Given the description of an element on the screen output the (x, y) to click on. 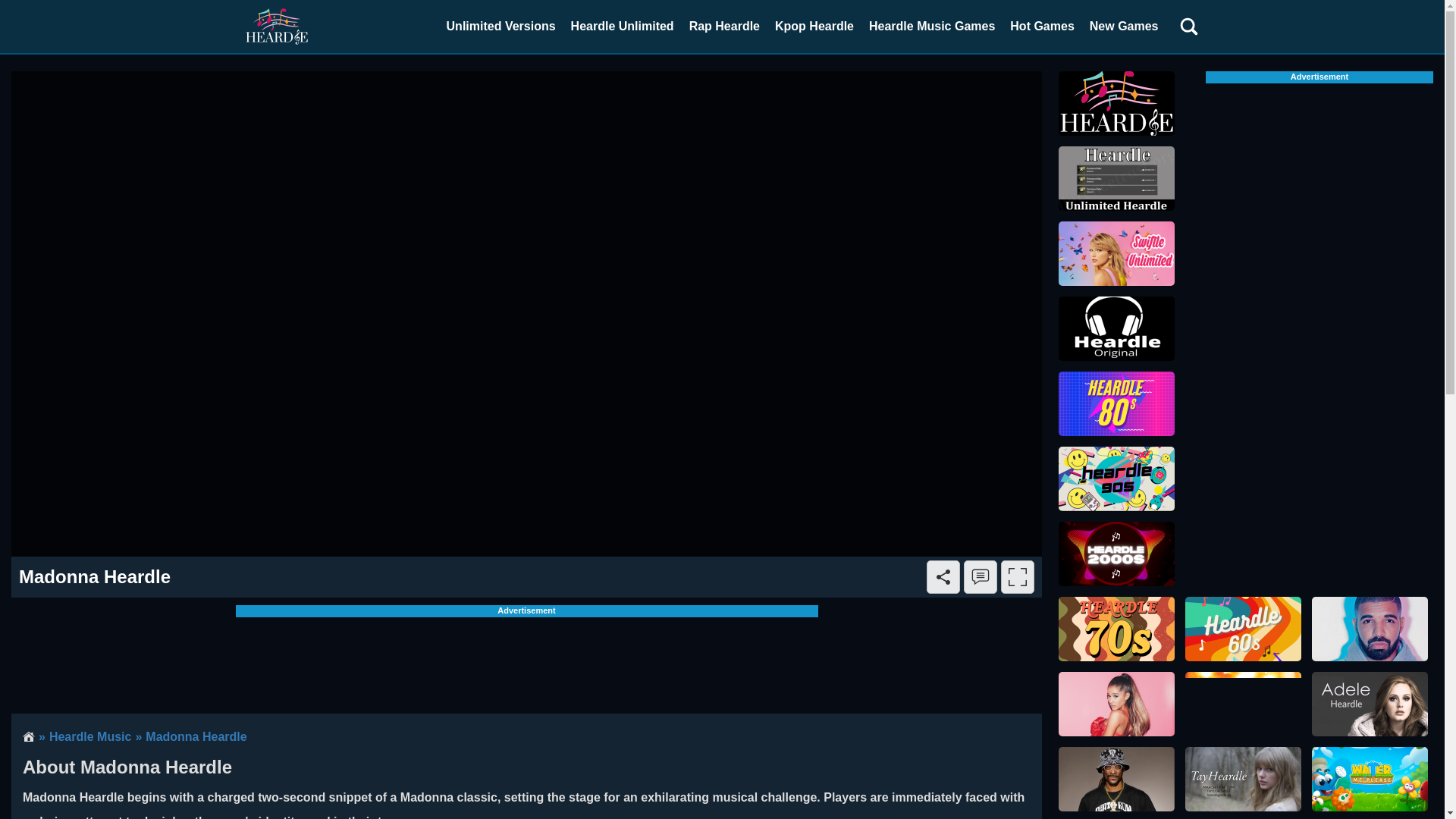
Rap Heardle (724, 26)
Unlimited Versions (501, 26)
Heardle Music Games (932, 26)
New Games (1123, 26)
New Games (1123, 26)
Kpop Heardle (814, 26)
Kpop Heardle (814, 26)
Heardle (275, 26)
Rap Heardle (724, 26)
Heardle Unlimited (622, 26)
